Given the description of an element on the screen output the (x, y) to click on. 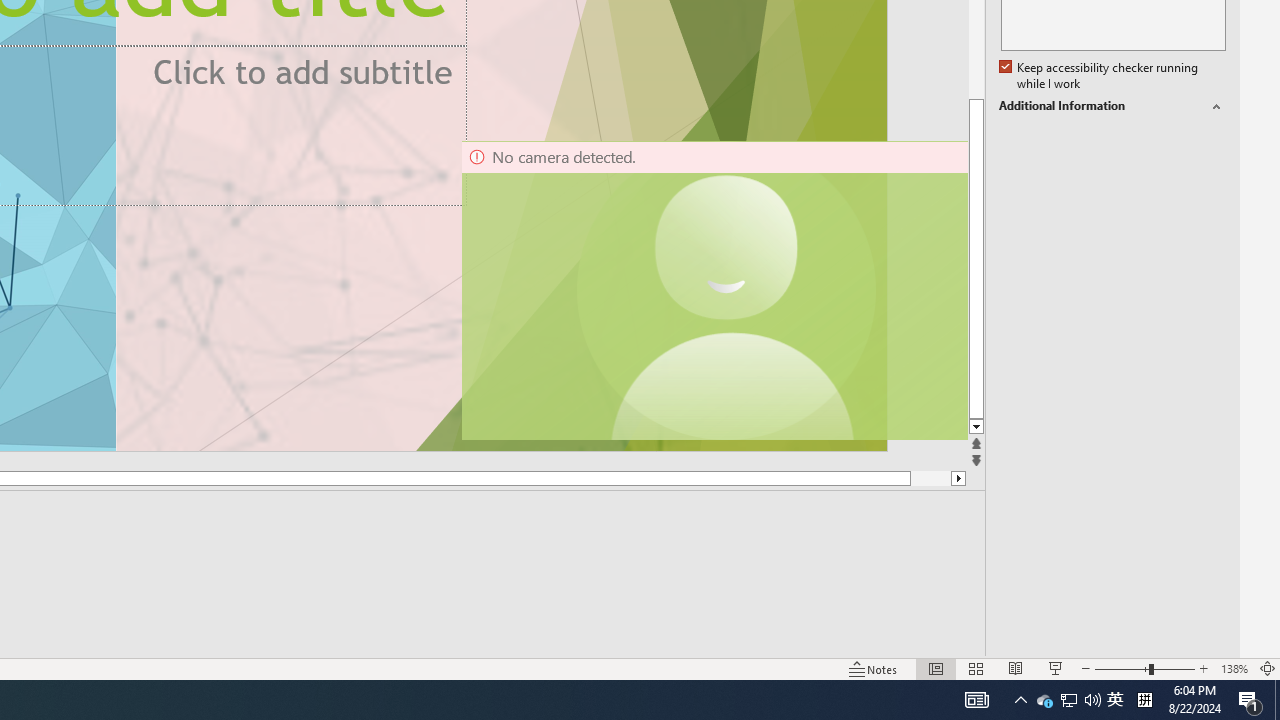
Camera 11, No camera detected. (727, 290)
Keep accessibility checker running while I work (1099, 76)
Zoom 138% (1234, 668)
Camera 14, No camera detected. (713, 290)
Additional Information (1112, 106)
